Given the description of an element on the screen output the (x, y) to click on. 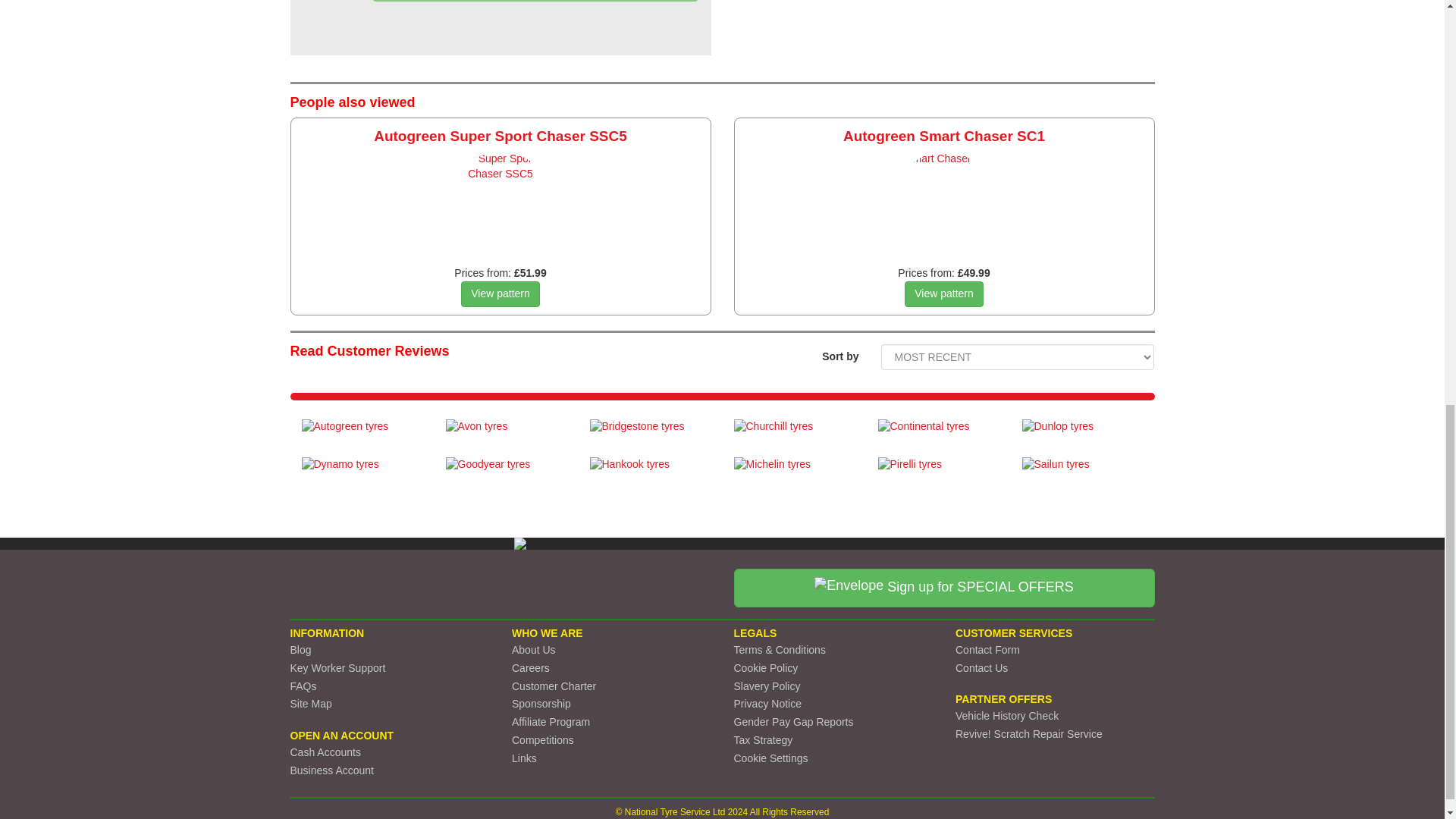
Bridgestone car tyres (650, 434)
Autogreen car tyres (362, 434)
Churchill car tyres (794, 434)
Avon car tyres (506, 434)
Continental car tyres (937, 434)
